Given the description of an element on the screen output the (x, y) to click on. 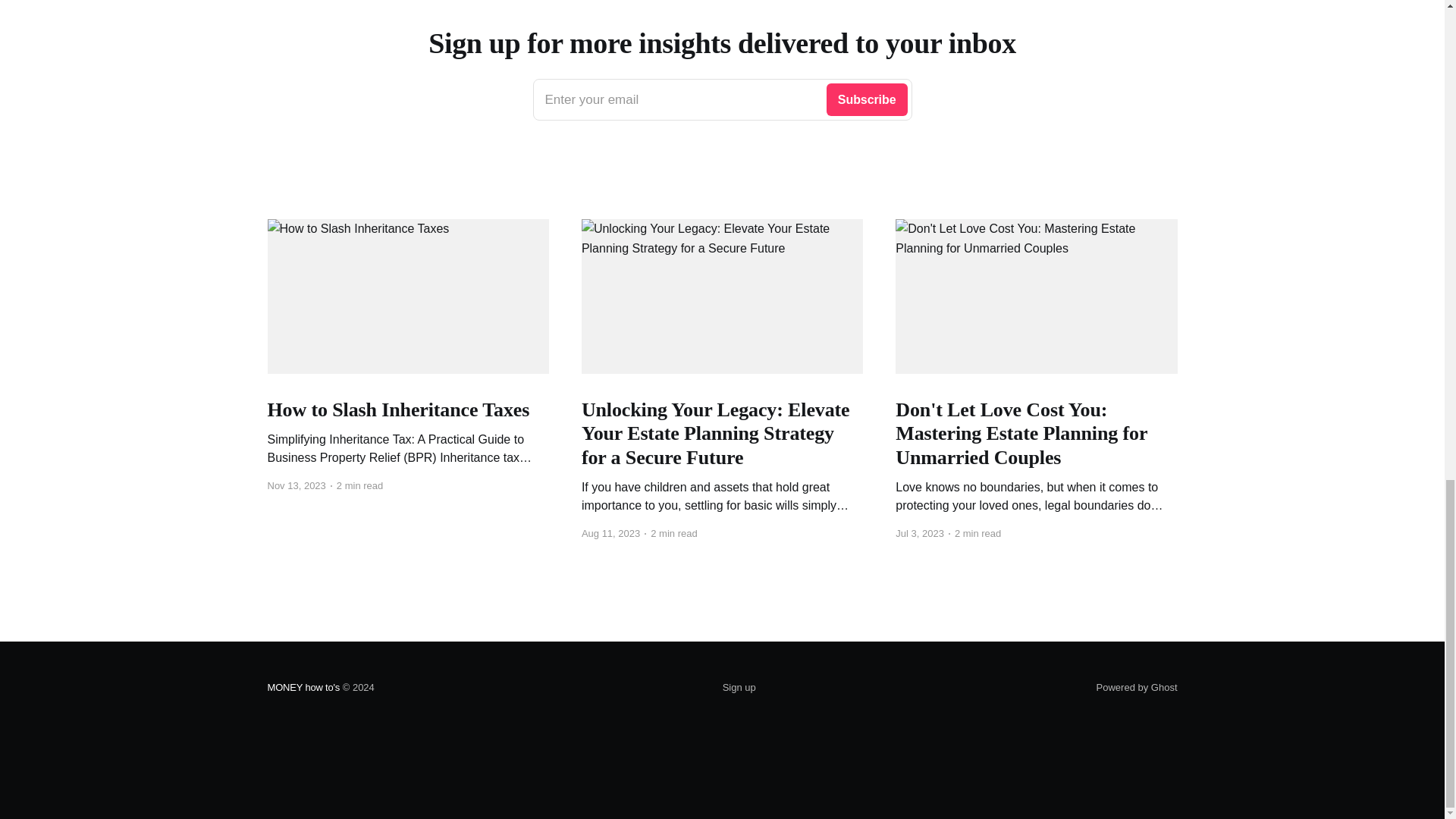
MONEY how to's (302, 686)
Powered by Ghost (1136, 686)
Sign up (721, 99)
